Given the description of an element on the screen output the (x, y) to click on. 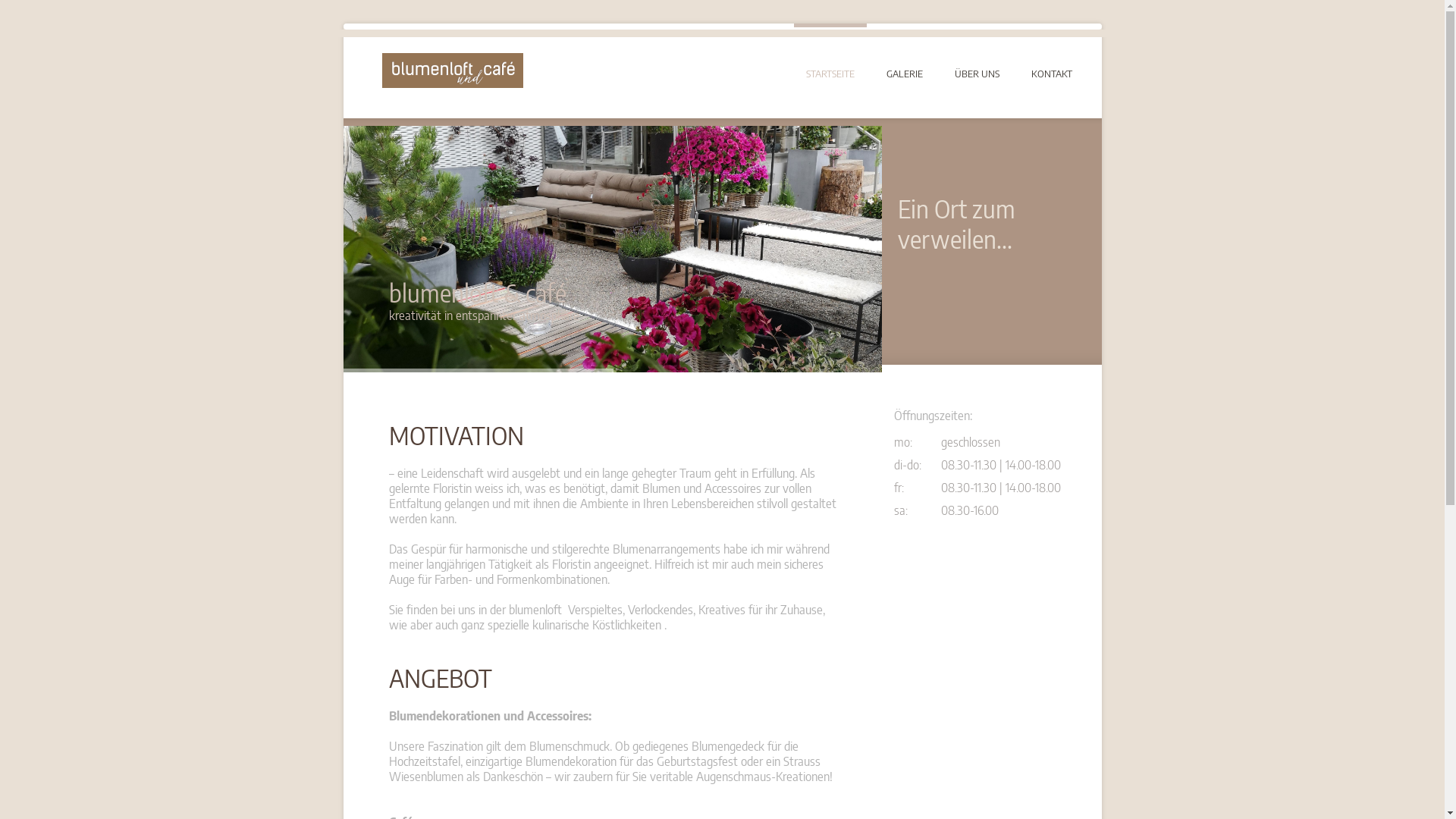
KONTAKT Element type: text (1051, 51)
GALERIE Element type: text (903, 51)
STARTSEITE Element type: text (829, 51)
